Given the description of an element on the screen output the (x, y) to click on. 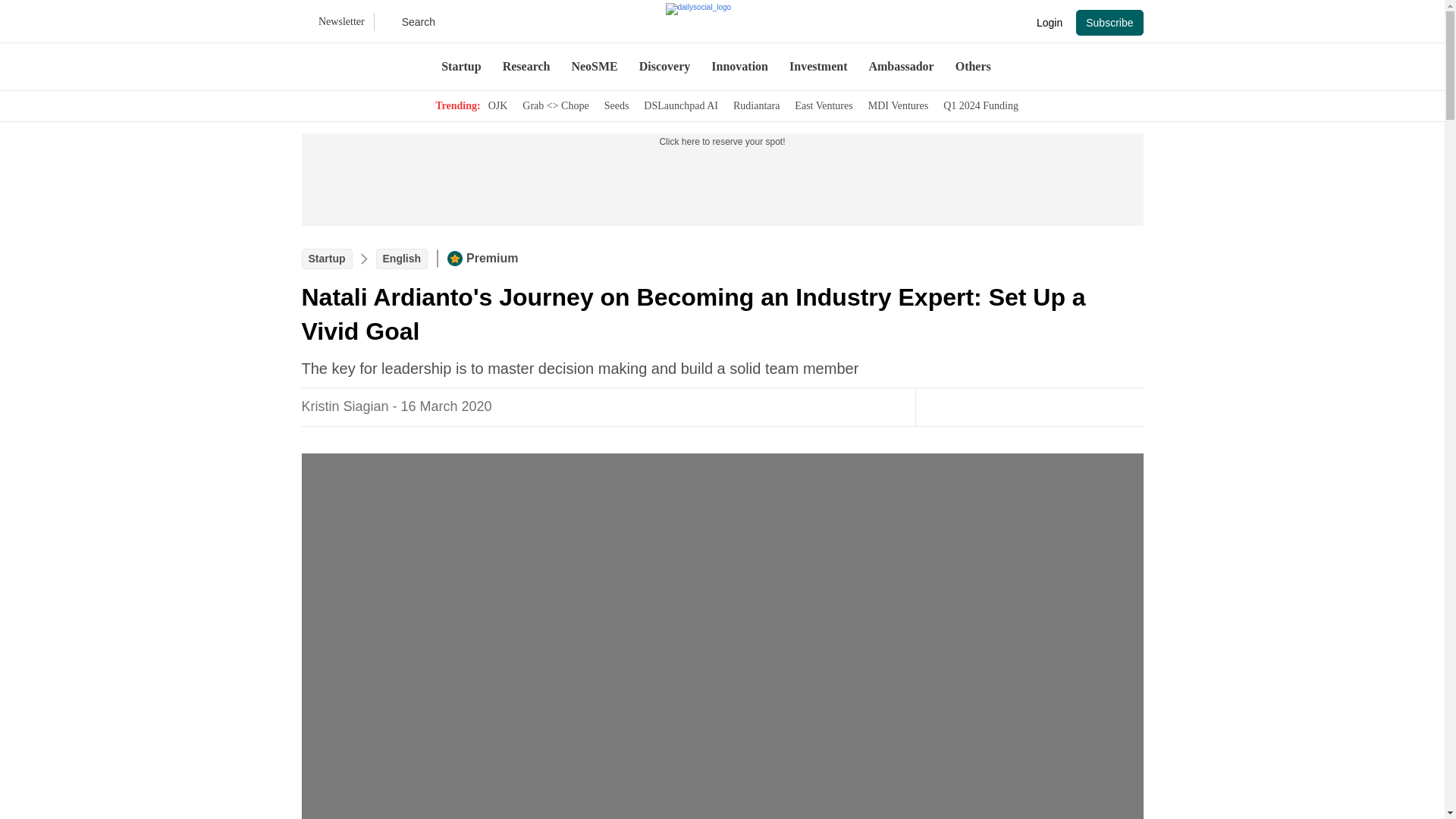
Share this article (1103, 406)
Share this article (1073, 406)
Newsletter (337, 22)
Share this article (1042, 406)
Share this article (1013, 406)
